Given the description of an element on the screen output the (x, y) to click on. 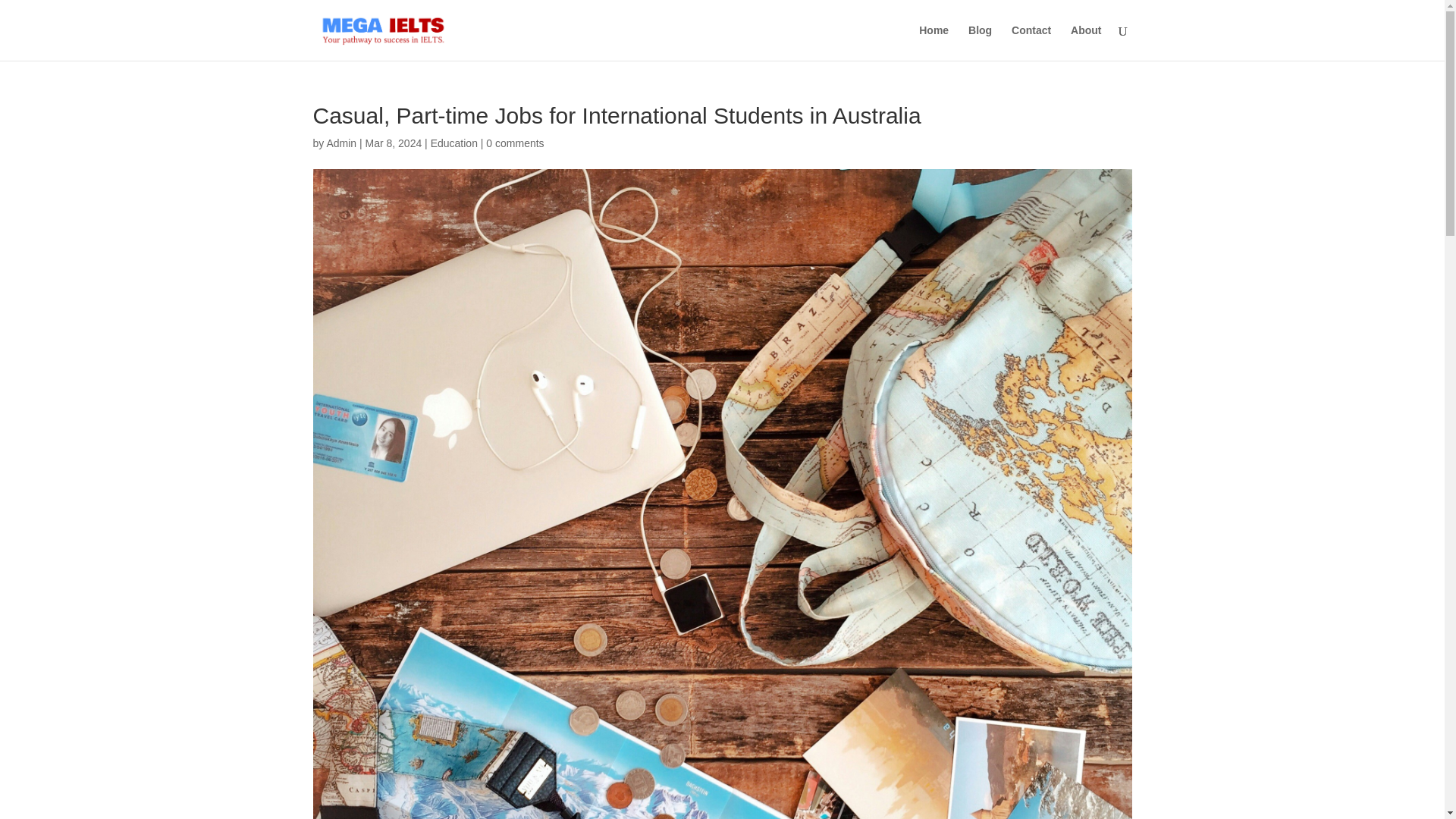
Education (453, 143)
Posts by Admin (341, 143)
Admin (341, 143)
0 comments (514, 143)
Contact (1031, 42)
